Given the description of an element on the screen output the (x, y) to click on. 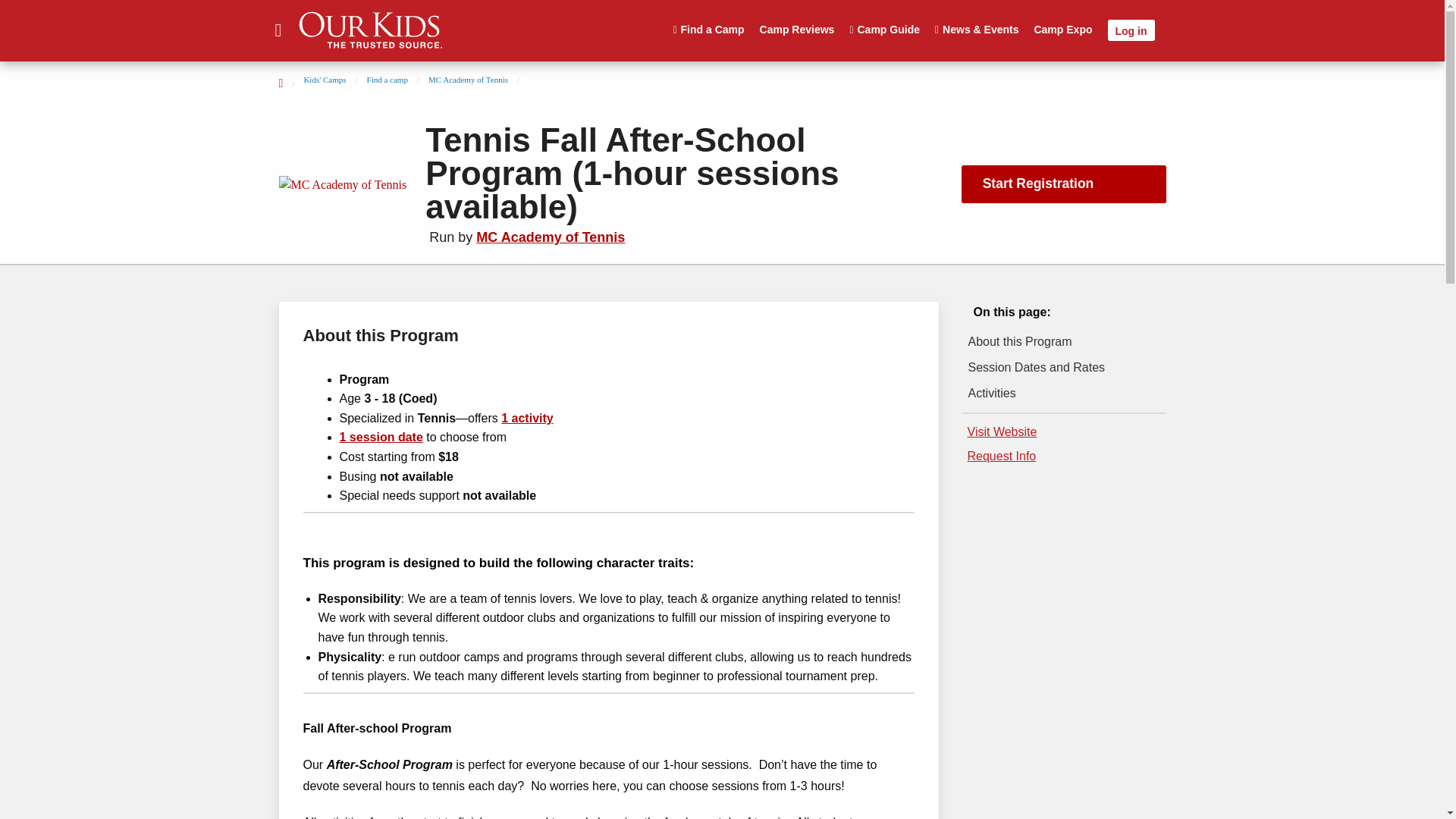
Find a Camp (708, 29)
